Given the description of an element on the screen output the (x, y) to click on. 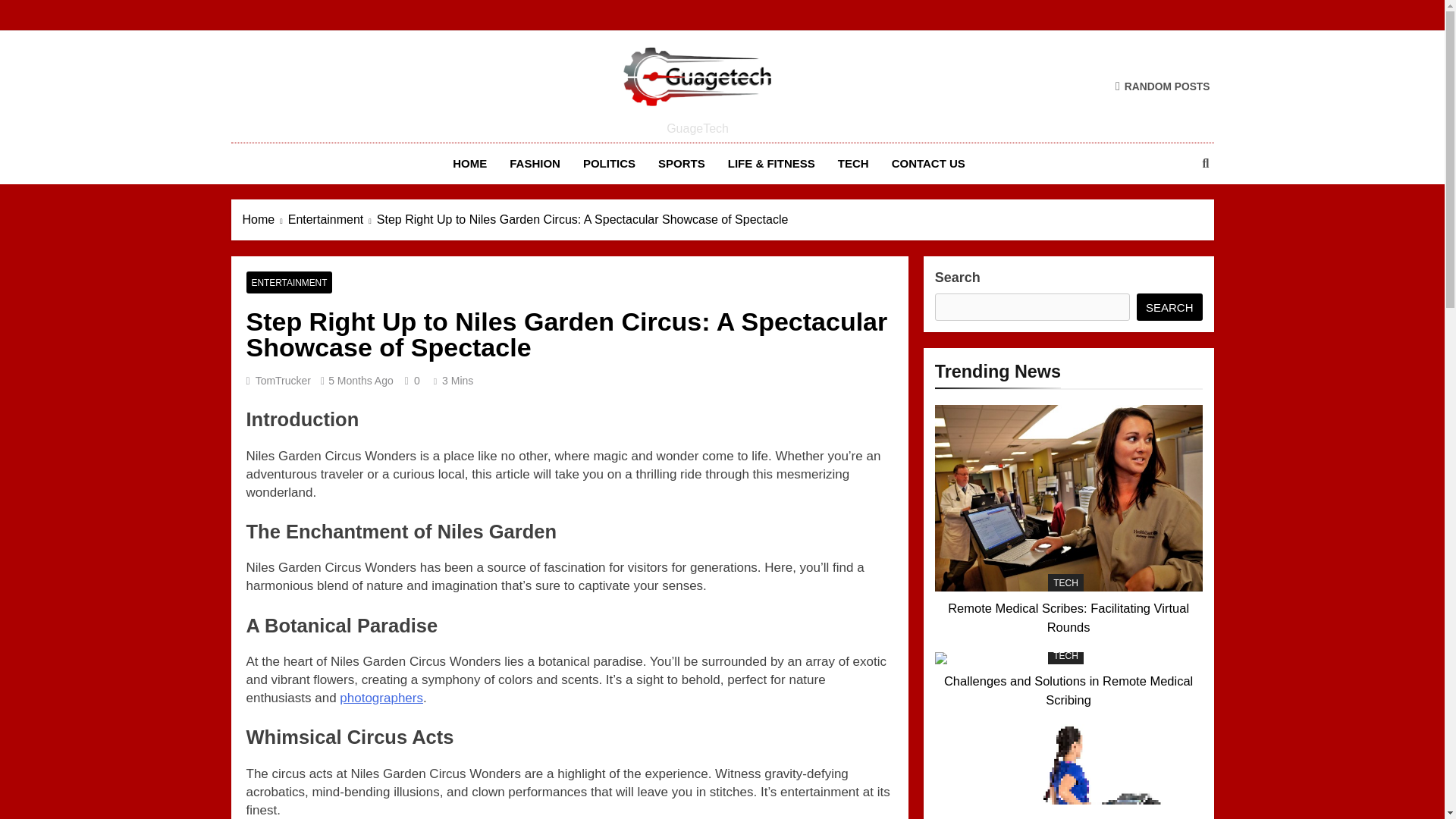
TECH (853, 163)
RANDOM POSTS (1162, 85)
CONTACT US (928, 163)
ENTERTAINMENT (288, 282)
TomTrucker (283, 380)
photographers (381, 698)
POLITICS (609, 163)
SPORTS (681, 163)
Entertainment (332, 219)
FASHION (534, 163)
GuageTech (512, 132)
Home (265, 219)
HOME (469, 163)
5 Months Ago (361, 380)
